Given the description of an element on the screen output the (x, y) to click on. 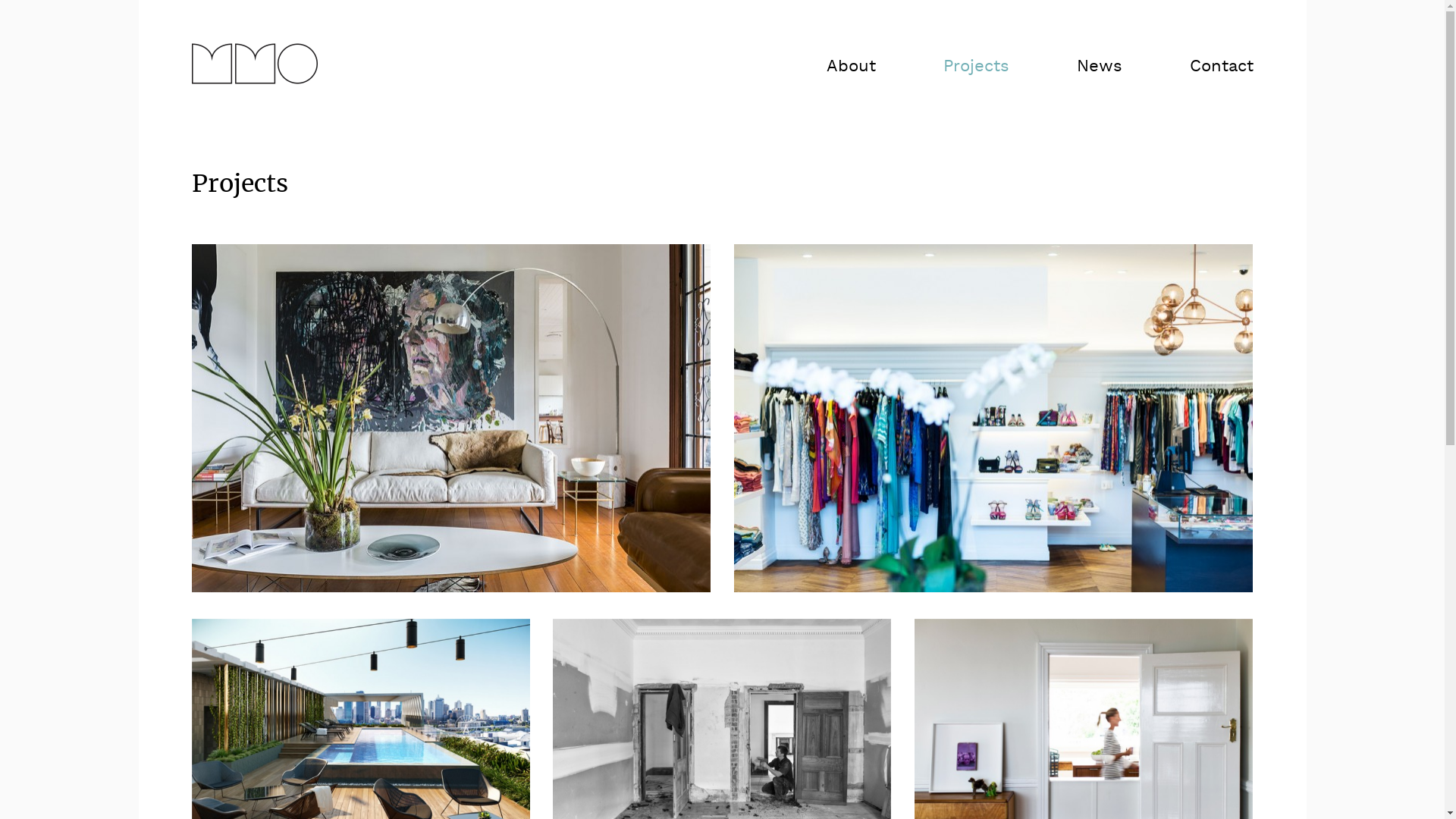
Projects Element type: text (941, 67)
Contact Element type: text (1187, 67)
News Element type: text (1064, 67)
About Element type: text (816, 67)
